Given the description of an element on the screen output the (x, y) to click on. 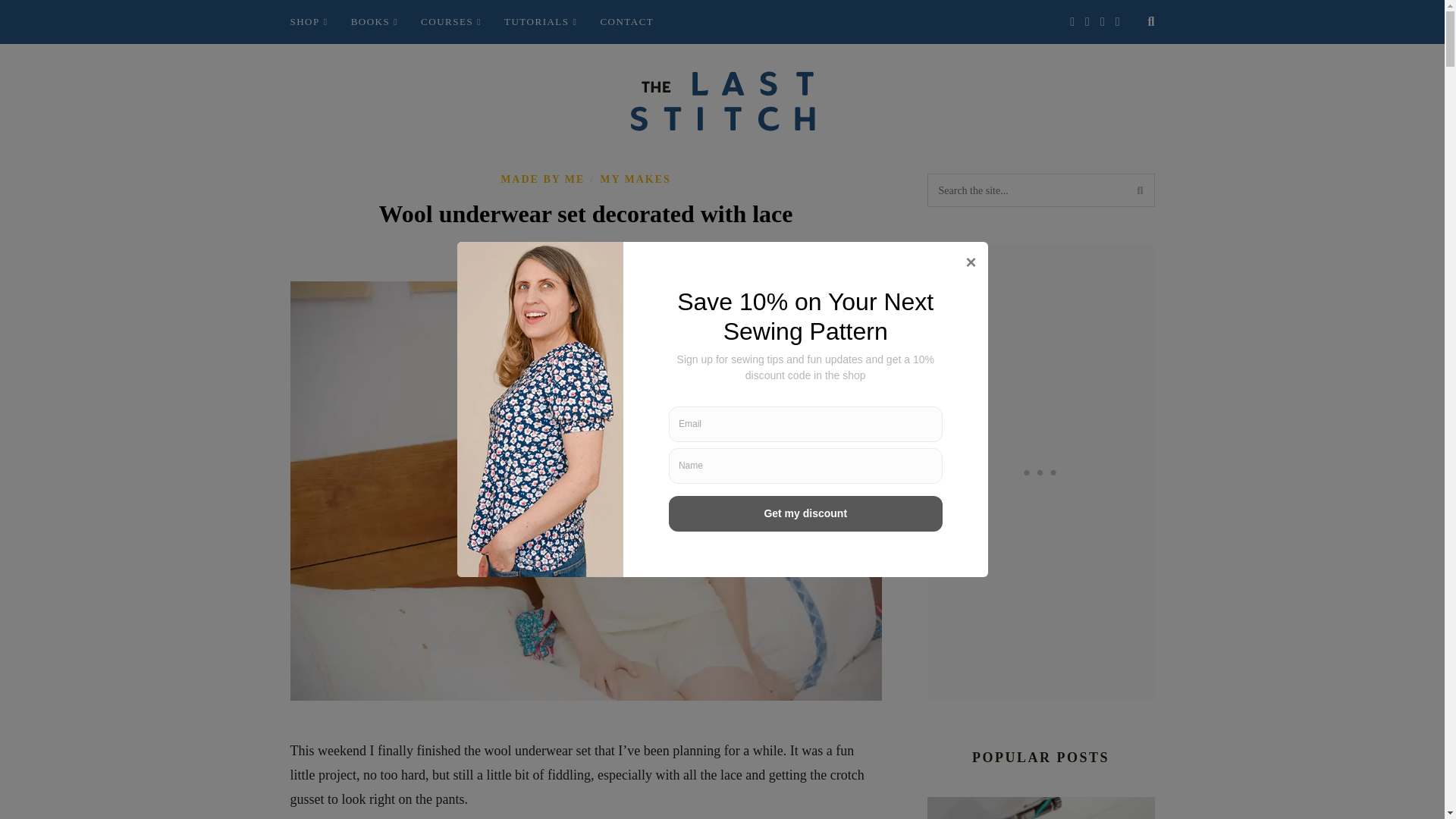
TUTORIALS (539, 22)
COURSES (450, 22)
CONTACT (626, 22)
BOOKS (373, 22)
